Given the description of an element on the screen output the (x, y) to click on. 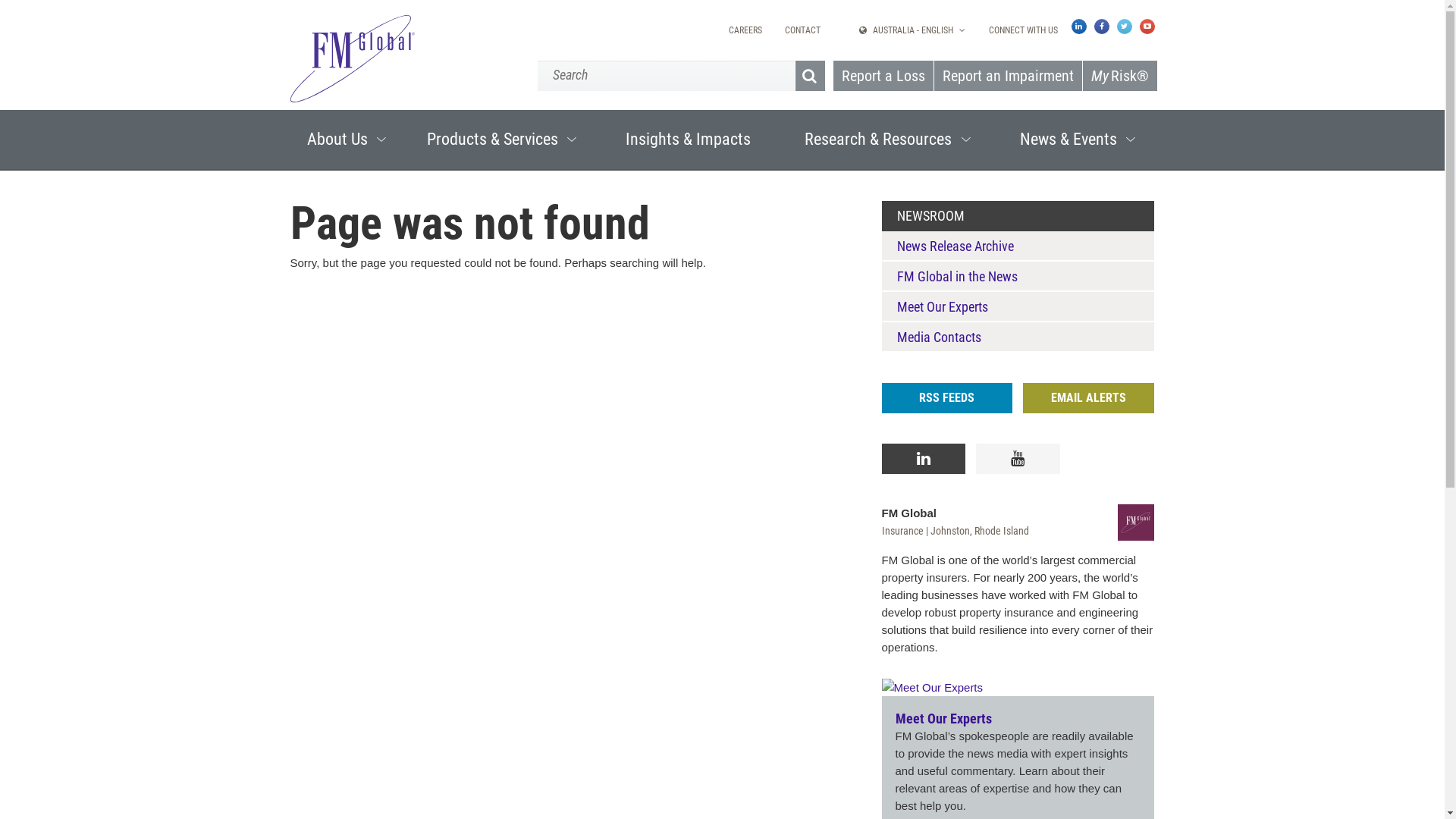
Research & Resources Element type: text (886, 139)
CAREERS Element type: text (744, 30)
Meet Our Experts Element type: text (941, 306)
EMAIL ALERTS Element type: text (1088, 397)
Insights & Impacts Element type: text (688, 139)
News & Events Element type: text (1075, 139)
FM Global in the News Element type: text (956, 276)
Report a Loss Element type: text (882, 75)
Linkedin Element type: hover (923, 458)
RSS FEEDS Element type: text (946, 397)
AUSTRALIA - ENGLISH Element type: text (911, 30)
Youtube Element type: hover (1017, 458)
Products & Services Element type: text (500, 139)
News Release Archive Element type: text (954, 246)
Report an Impairment Element type: text (1006, 75)
Media Contacts Element type: text (938, 337)
NEWSROOM Element type: text (929, 215)
About Us Element type: text (343, 139)
CONTACT Element type: text (802, 30)
Meet Our Experts Element type: text (942, 718)
